Given the description of an element on the screen output the (x, y) to click on. 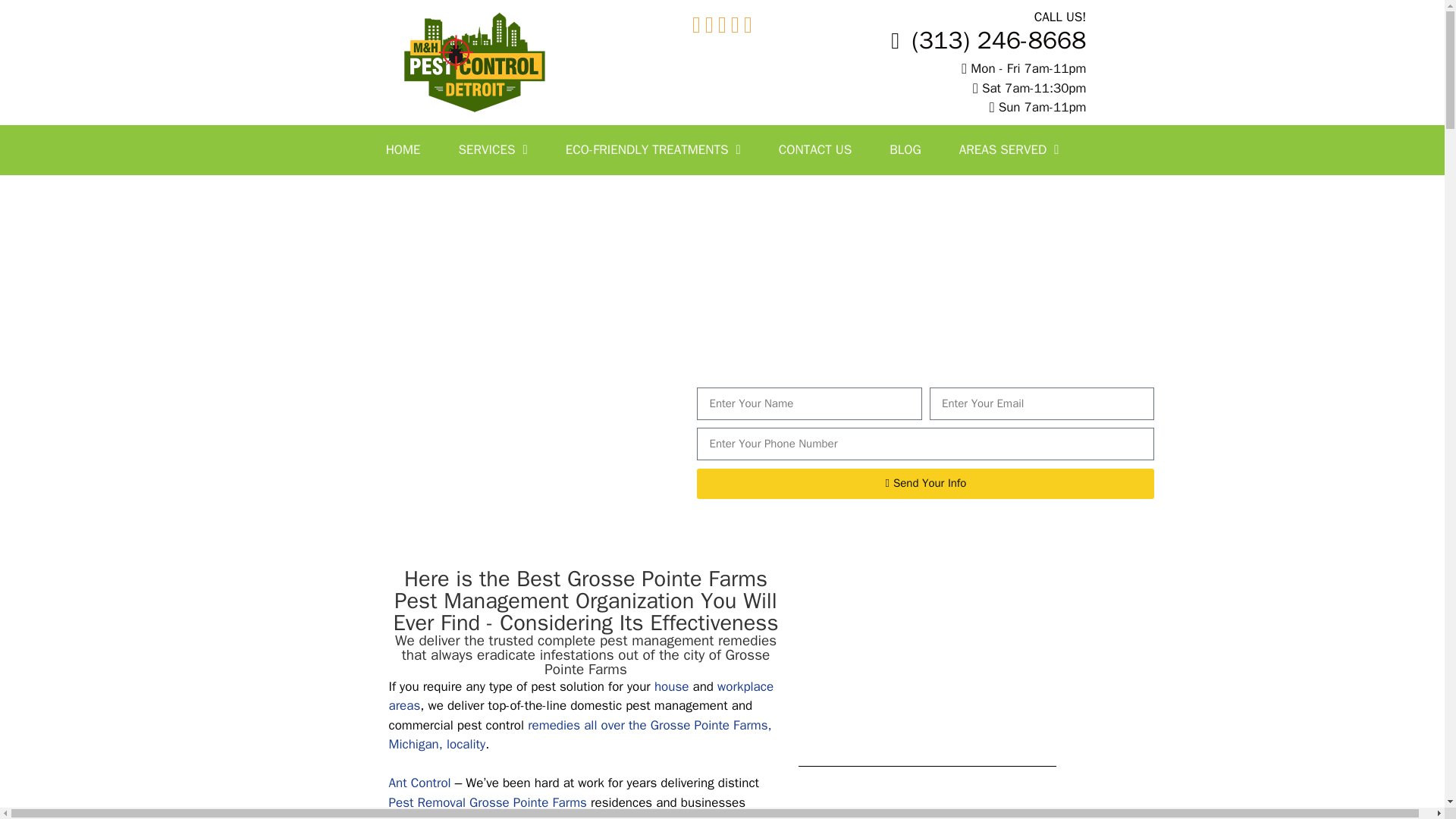
SERVICES (493, 149)
CONTACT US (815, 149)
HOME (402, 149)
AREAS SERVED (1009, 149)
BLOG (904, 149)
ECO-FRIENDLY TREATMENTS (653, 149)
